Given the description of an element on the screen output the (x, y) to click on. 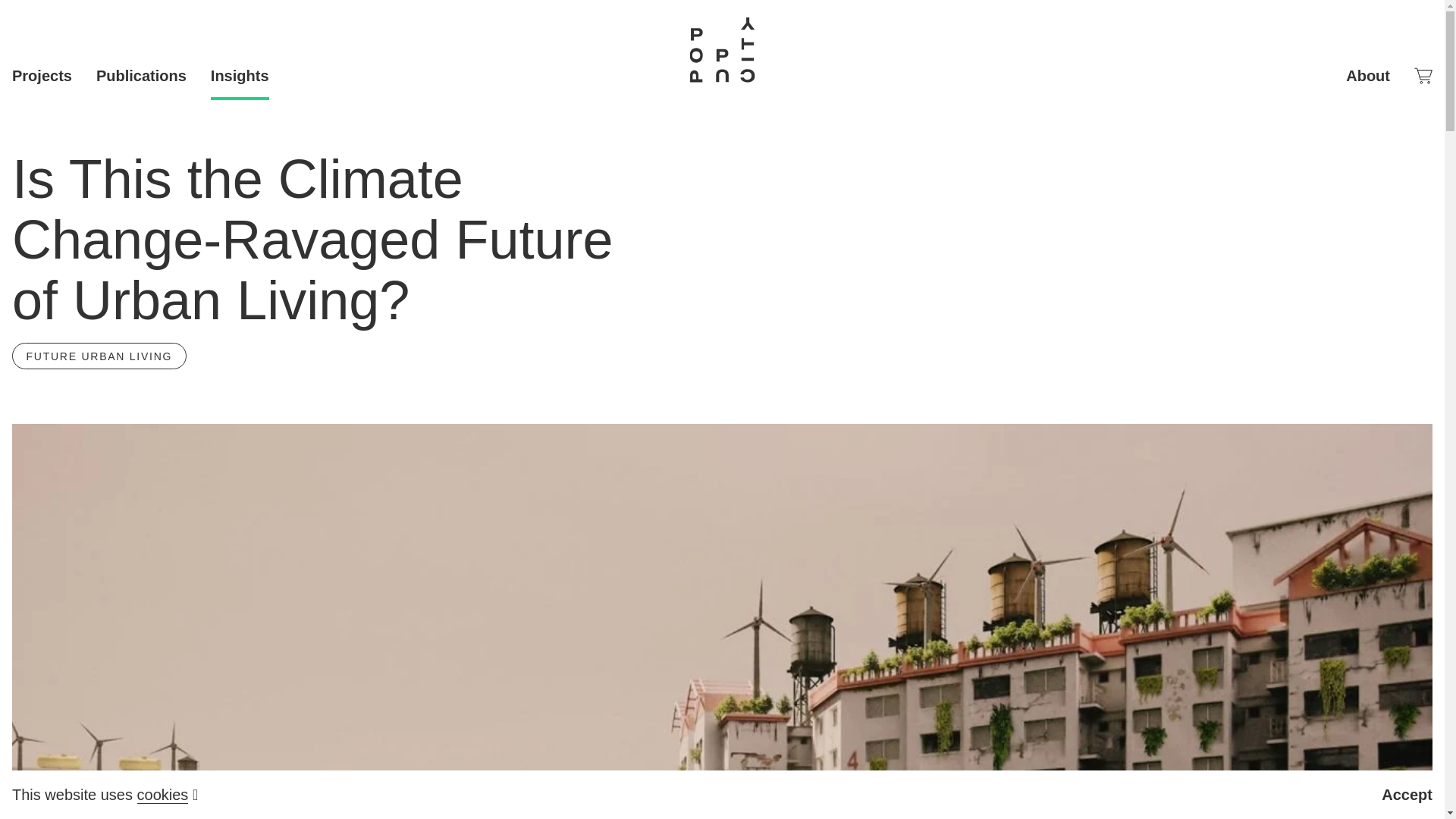
Publications (141, 75)
Projects (41, 75)
About (1367, 75)
Home (721, 49)
About (1367, 75)
Accept (1406, 794)
Insights (240, 75)
Insights (240, 75)
Publications (141, 75)
cookies (162, 794)
Projects (41, 75)
